Given the description of an element on the screen output the (x, y) to click on. 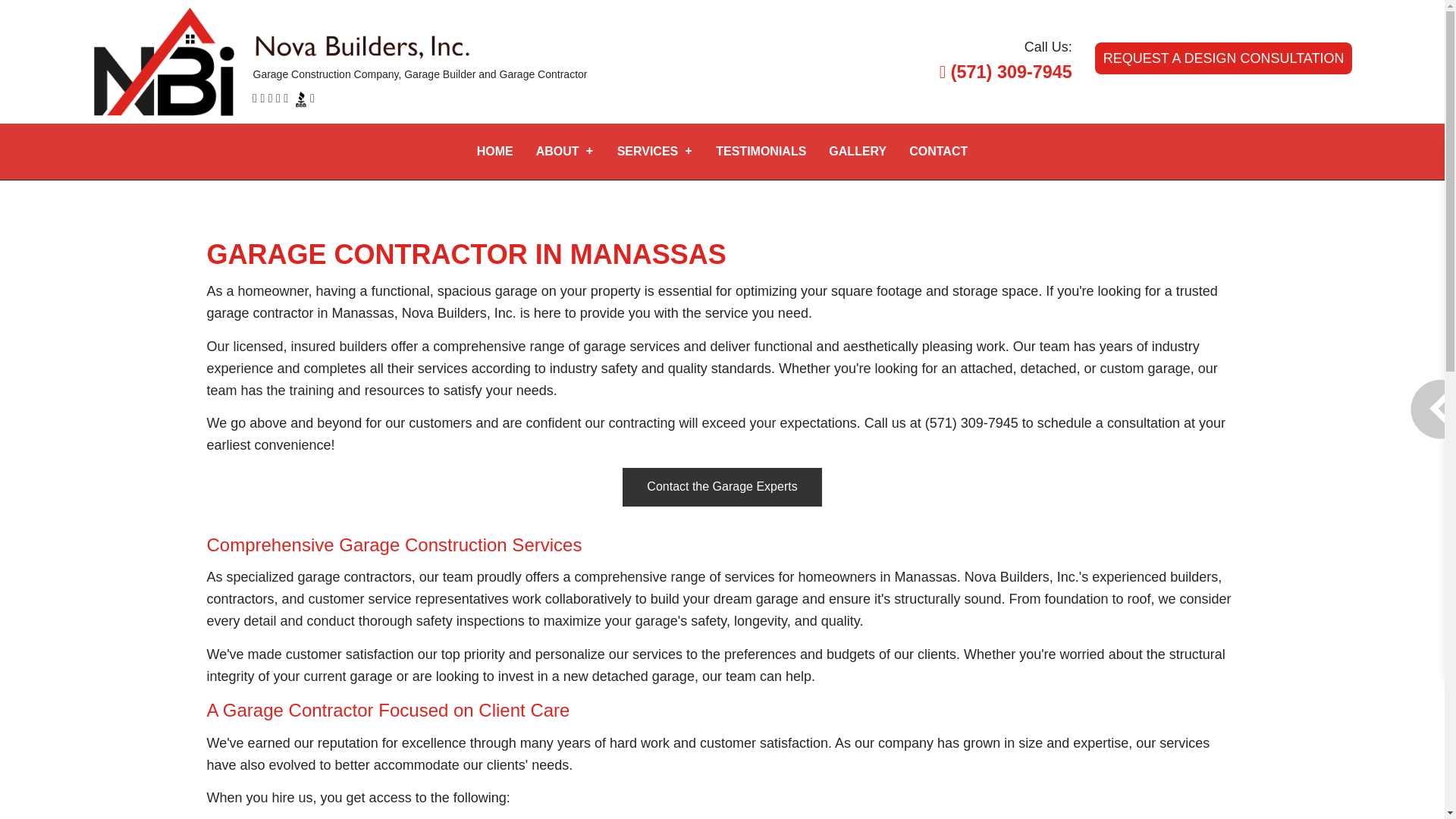
CUSTOM HOME ADDITIONS (655, 272)
SERVICES (654, 151)
Nova Builders, Inc. (164, 60)
ATTACHED GARAGES (655, 245)
DETACHED GARAGES (655, 219)
ABOUT (564, 151)
HOME (494, 151)
REQUEST A DESIGN CONSULTATION (1223, 58)
